Given the description of an element on the screen output the (x, y) to click on. 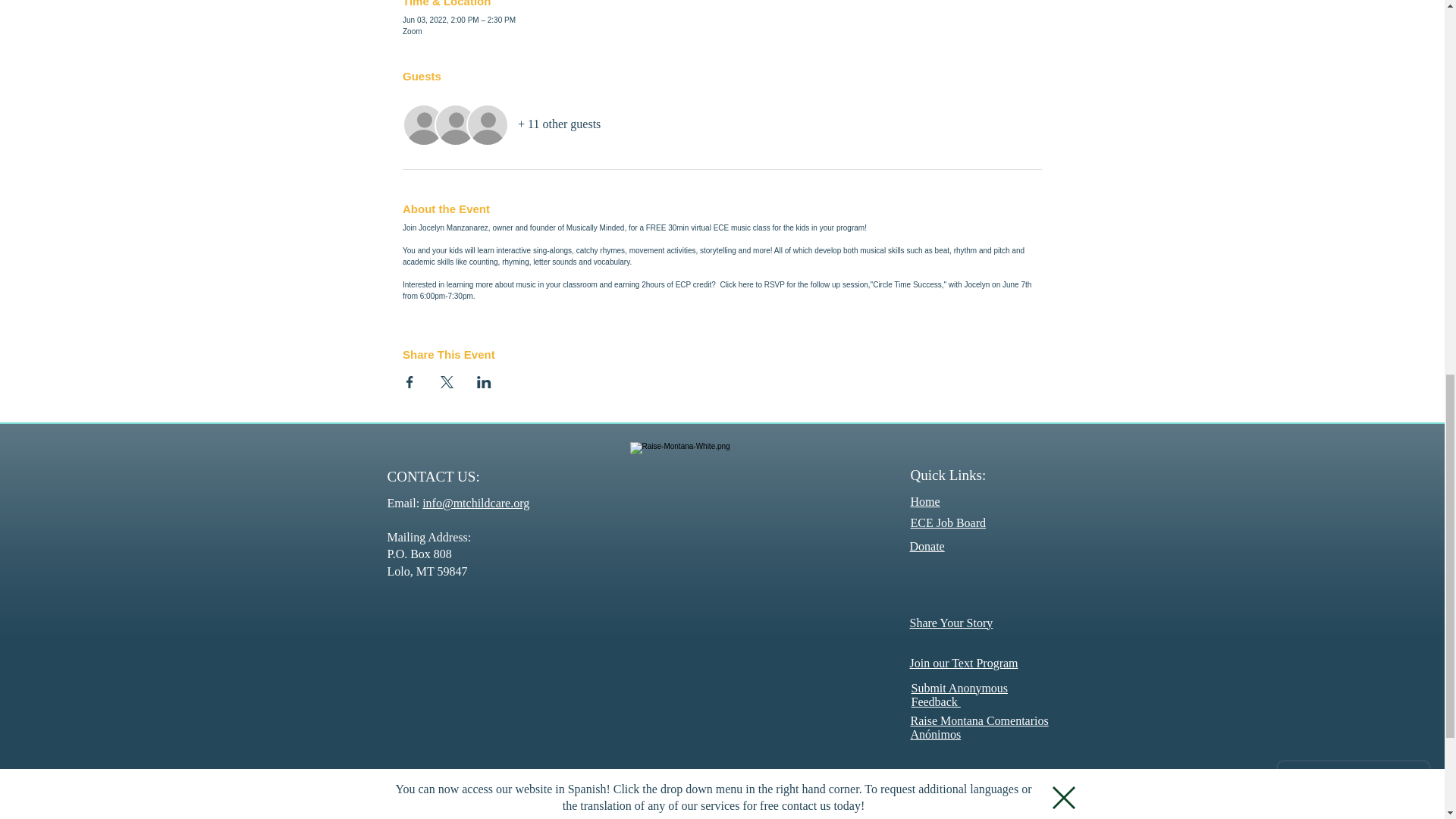
Donate (927, 545)
Share Your Story (951, 622)
Home (924, 501)
ECE Job Board (947, 522)
